Given the description of an element on the screen output the (x, y) to click on. 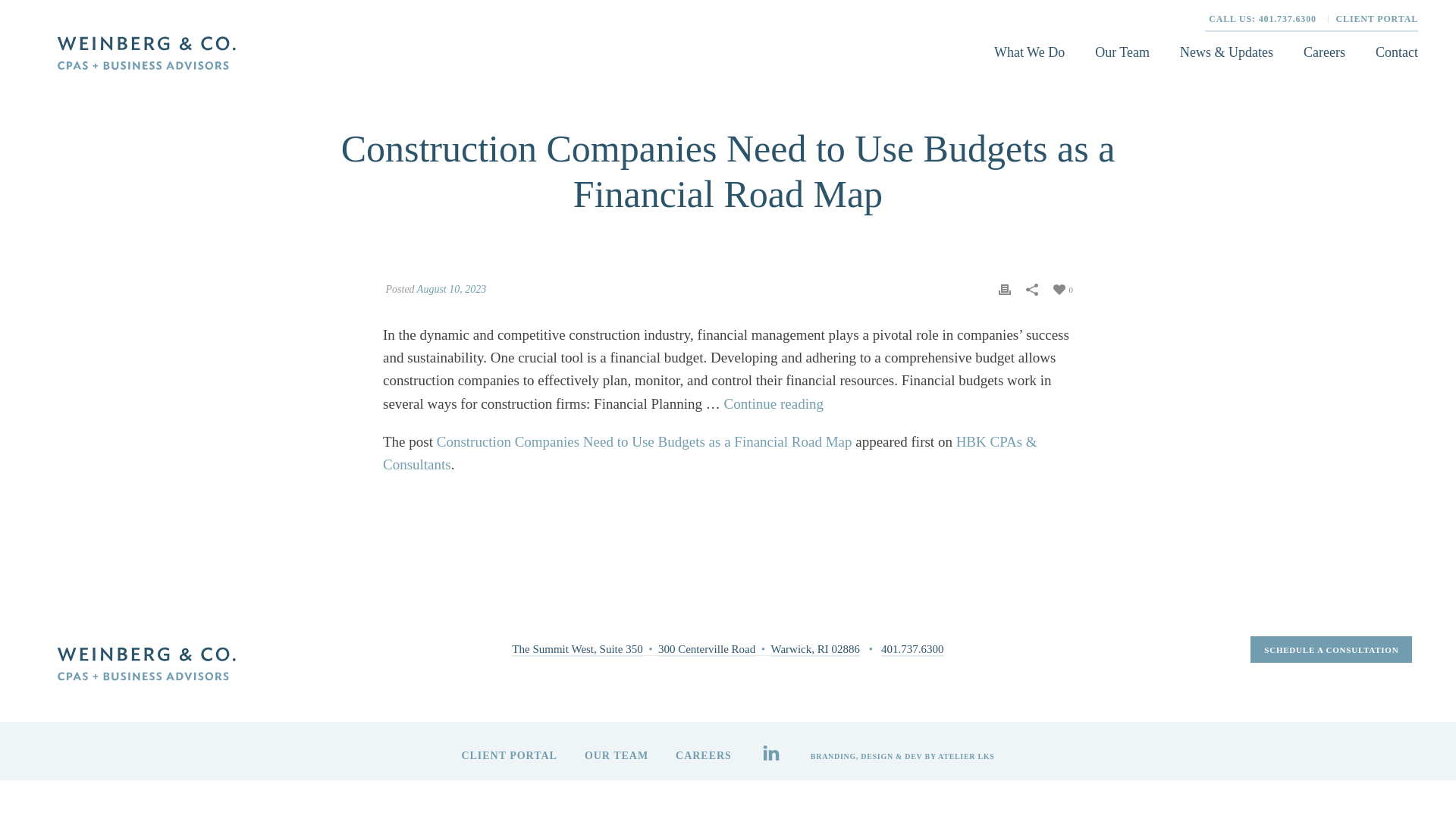
SCHEDULE A CONSULTATION (1331, 649)
What We Do (1029, 52)
401.737.6300 (911, 649)
0 (1062, 287)
CALL US: 401.737.6300 (1266, 18)
SCHEDULE A CONSULTATION (1331, 649)
August 10, 2023 (451, 288)
OUR TEAM (616, 756)
Our Team (1122, 52)
Careers (1323, 52)
